Given the description of an element on the screen output the (x, y) to click on. 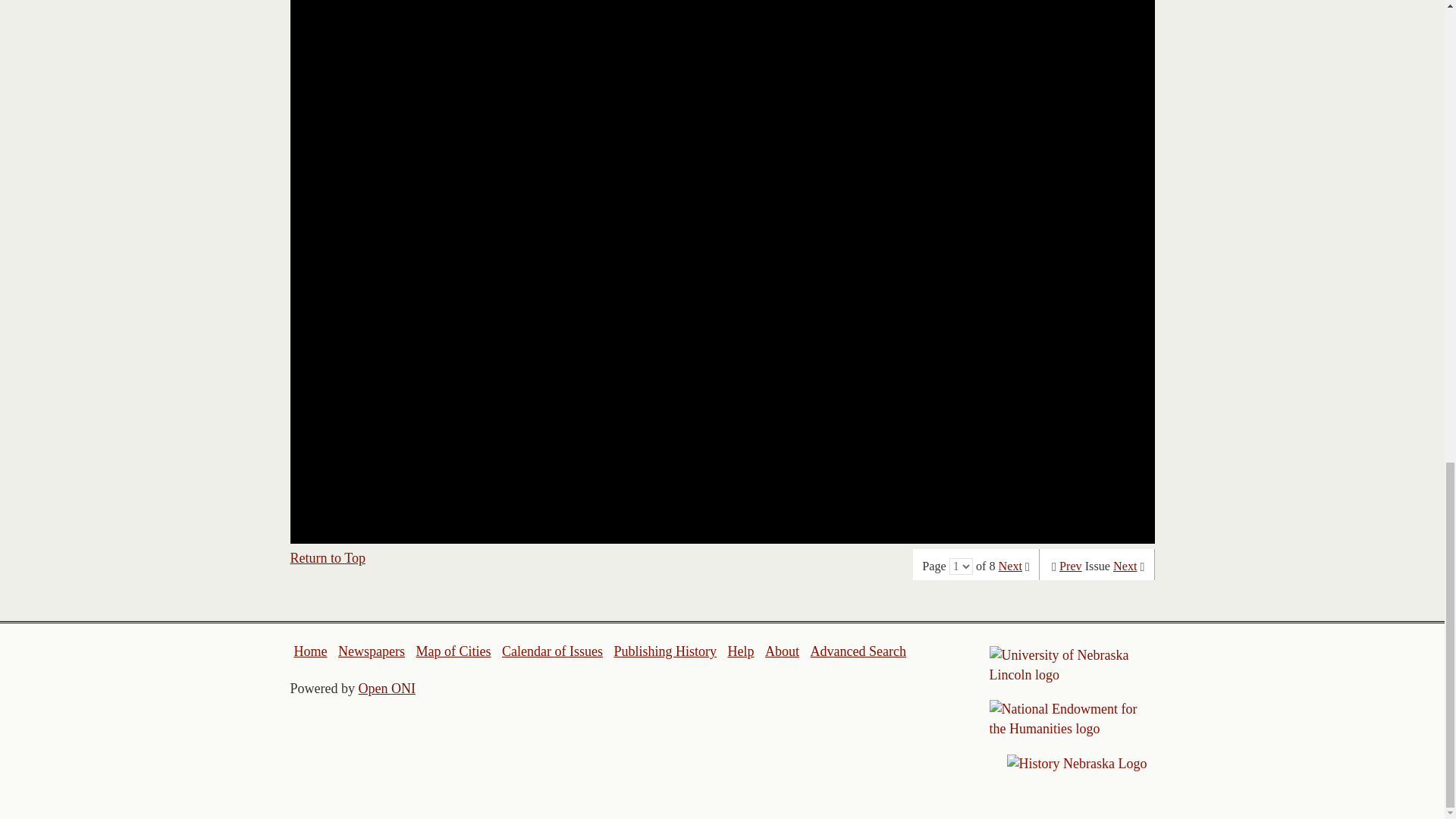
Return to Top (327, 557)
Next (1125, 566)
Calendar of Issues (552, 651)
Home (310, 651)
Advanced Search (857, 651)
Prev (1070, 566)
Publishing History (664, 651)
About (782, 651)
Help (740, 651)
Map of Cities (452, 651)
